Given the description of an element on the screen output the (x, y) to click on. 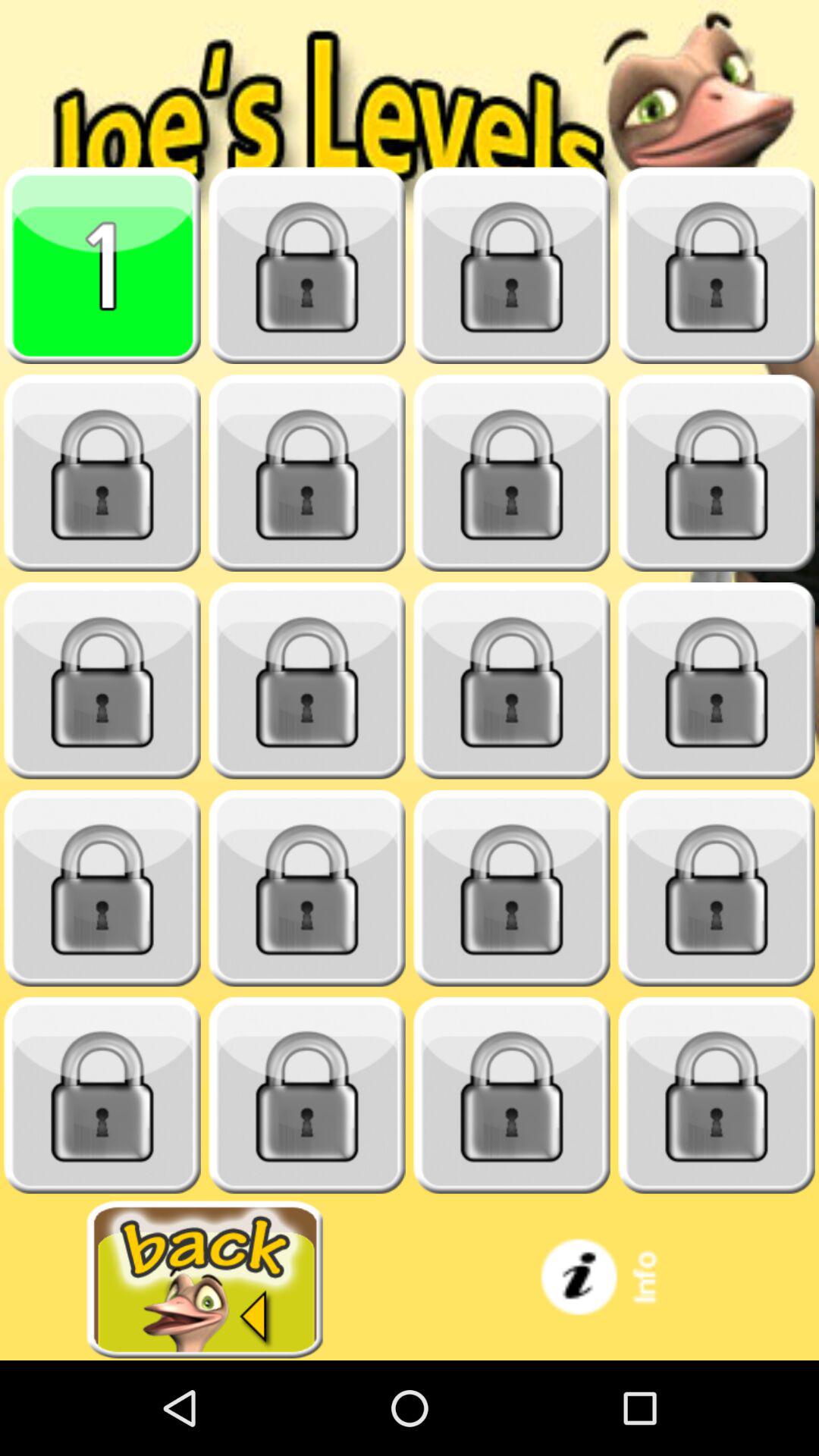
play level 1 (102, 265)
